Given the description of an element on the screen output the (x, y) to click on. 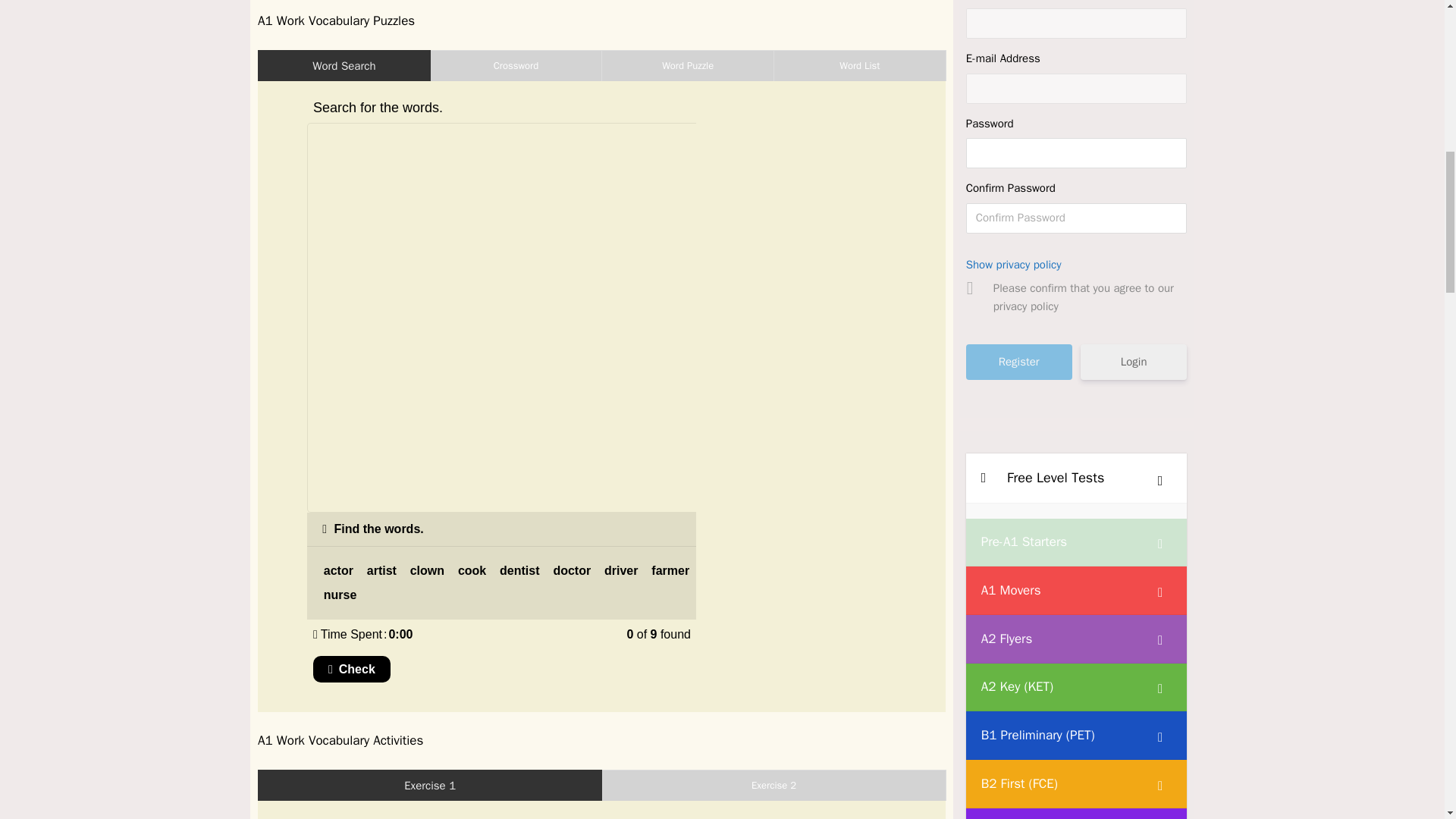
Register (1018, 361)
